Given the description of an element on the screen output the (x, y) to click on. 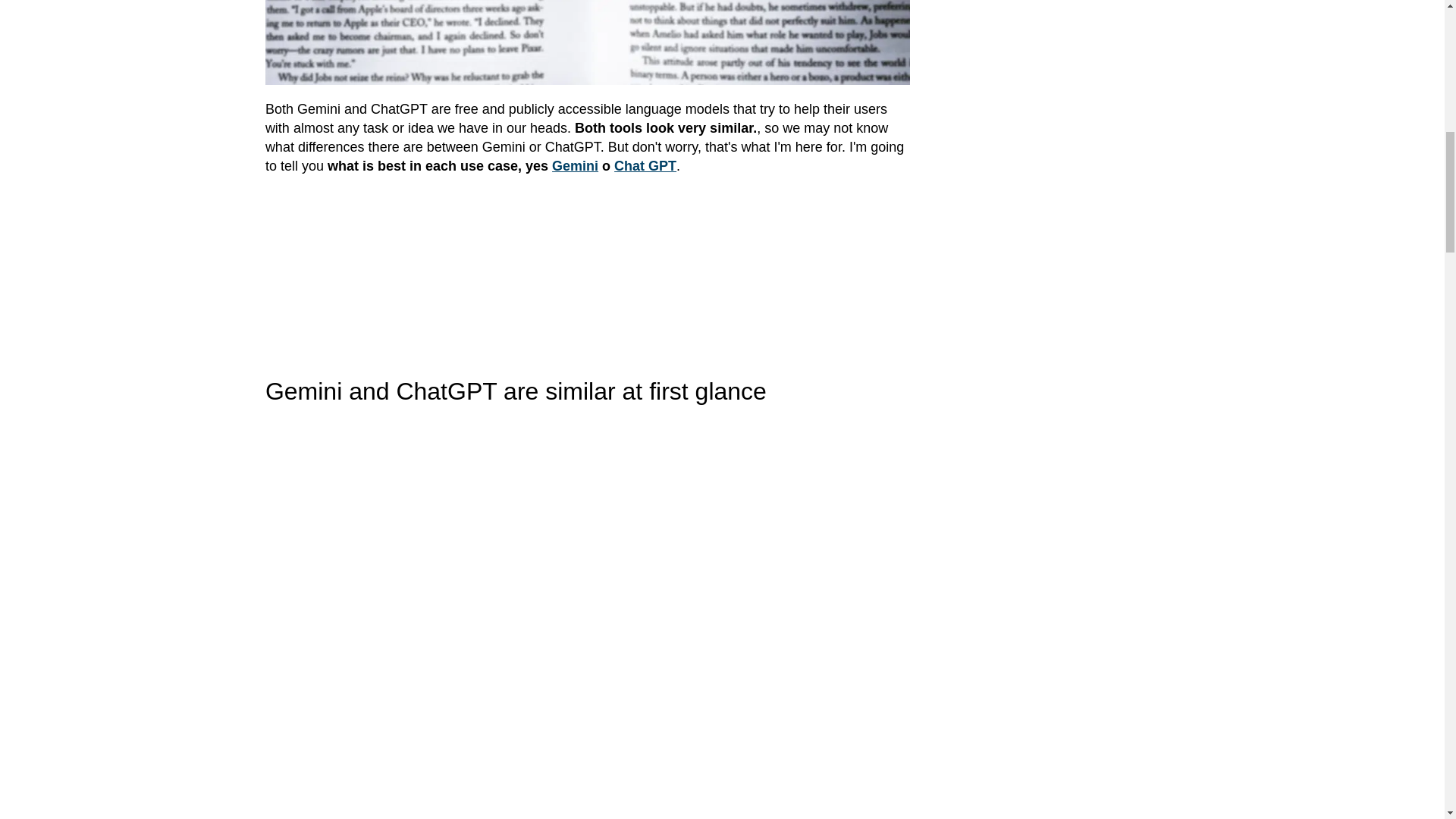
Chat GPT (645, 165)
Gemini (574, 165)
